Given the description of an element on the screen output the (x, y) to click on. 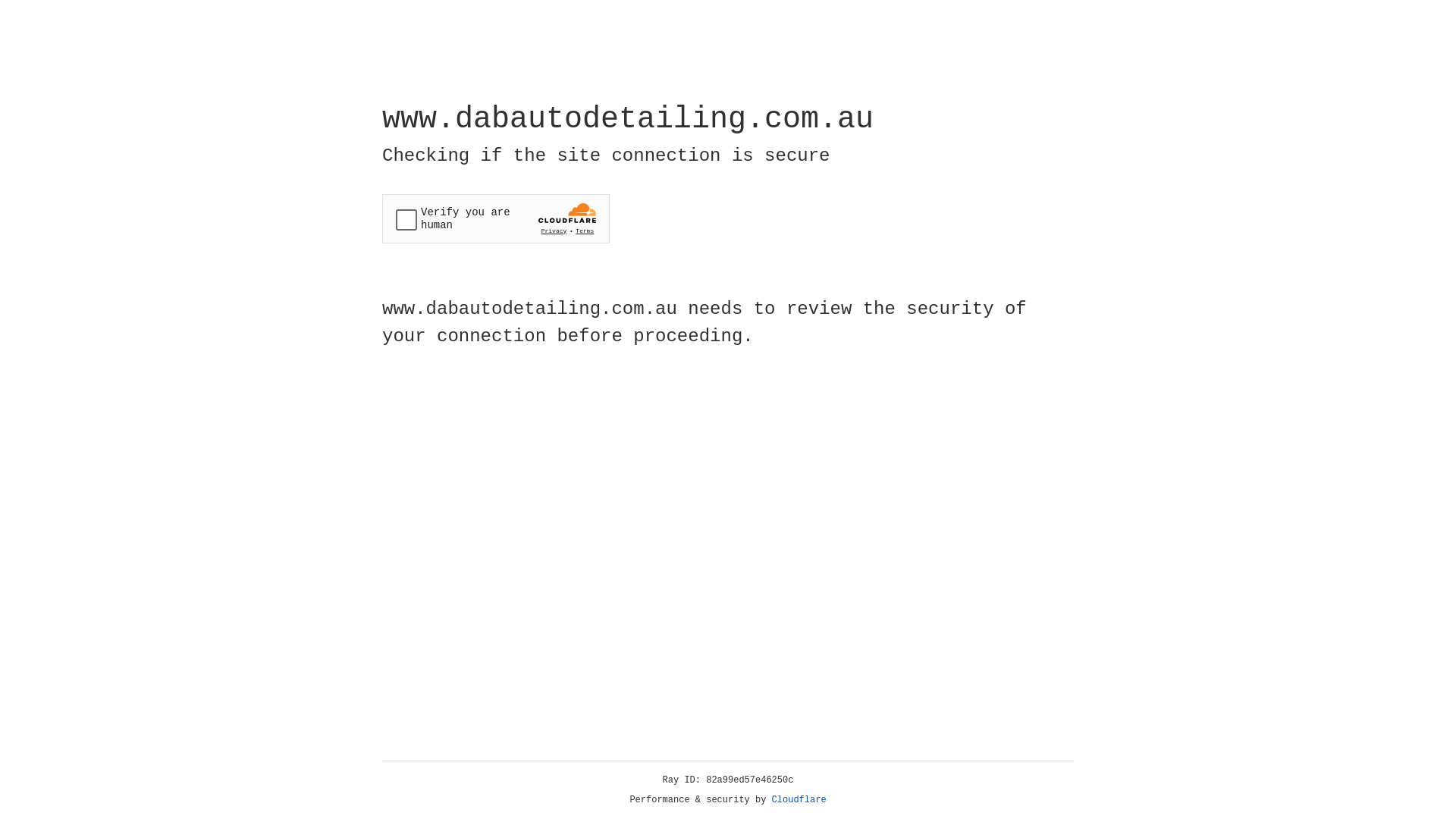
Widget containing a Cloudflare security challenge Element type: hover (495, 218)
Cloudflare Element type: text (798, 799)
